Given the description of an element on the screen output the (x, y) to click on. 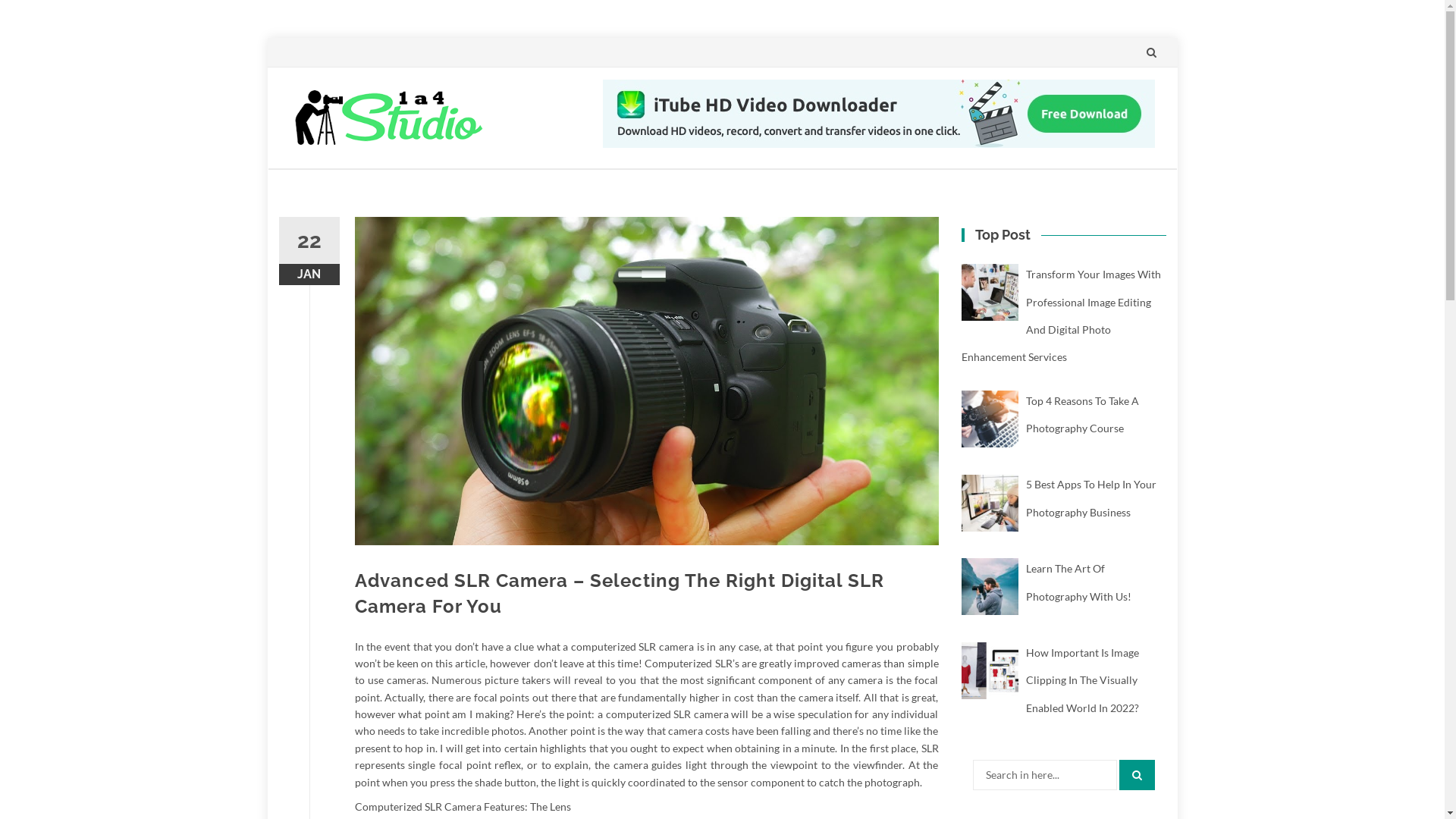
Skip to content Element type: text (266, 168)
Skip to content Element type: text (1135, 37)
5 Best Apps To Help In Your Photography Business Element type: text (1091, 497)
Top 4 Reasons To Take A Photography Course Element type: text (1082, 414)
Search for: Element type: hover (1044, 774)
Learn The Art Of Photography With Us!  Element type: text (1079, 581)
Search Element type: hover (1136, 774)
